Given the description of an element on the screen output the (x, y) to click on. 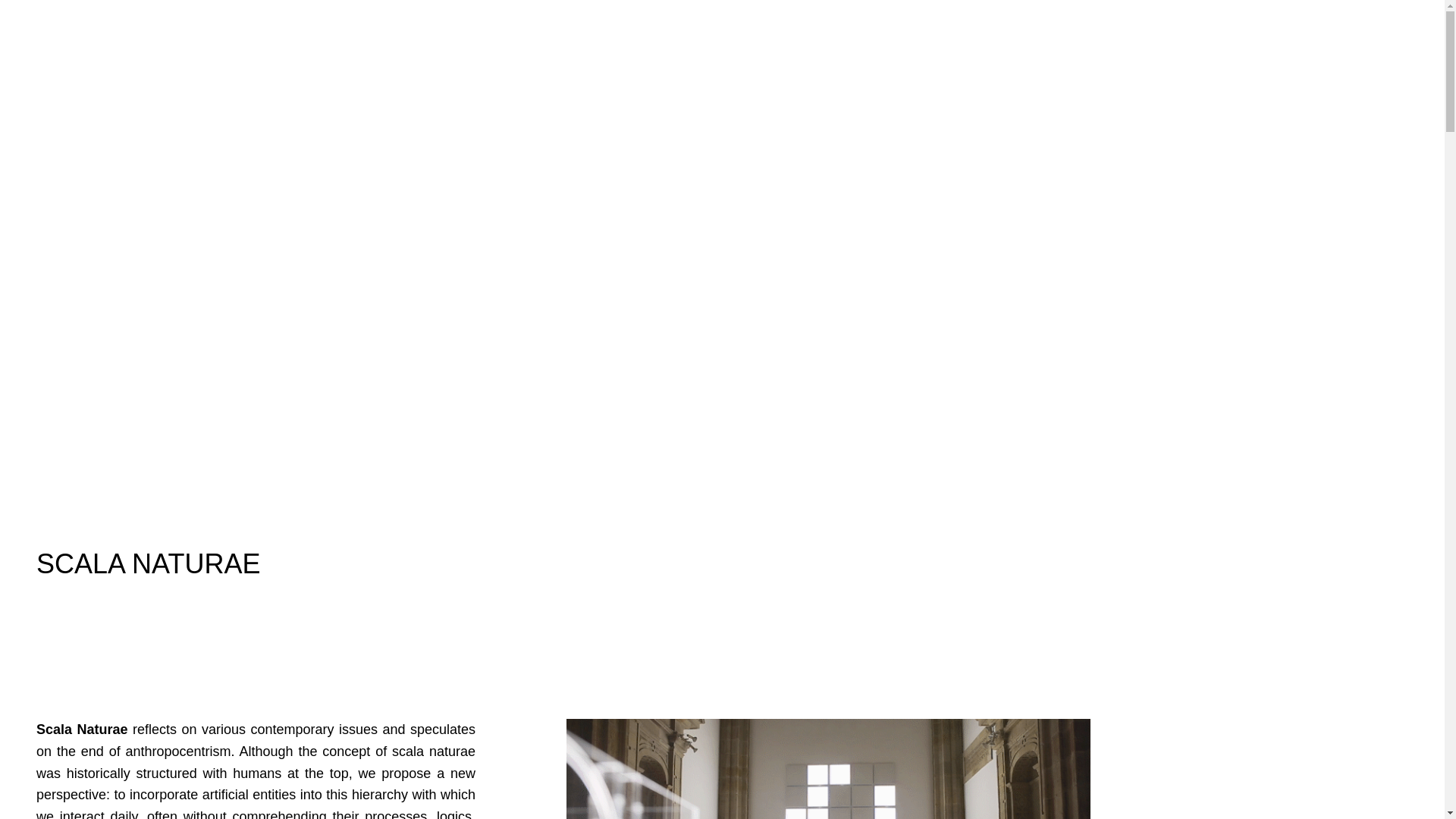
ABOUT (1200, 62)
LOG (1119, 62)
SHOP (1291, 62)
ES (1355, 62)
WORKS (1034, 62)
